Given the description of an element on the screen output the (x, y) to click on. 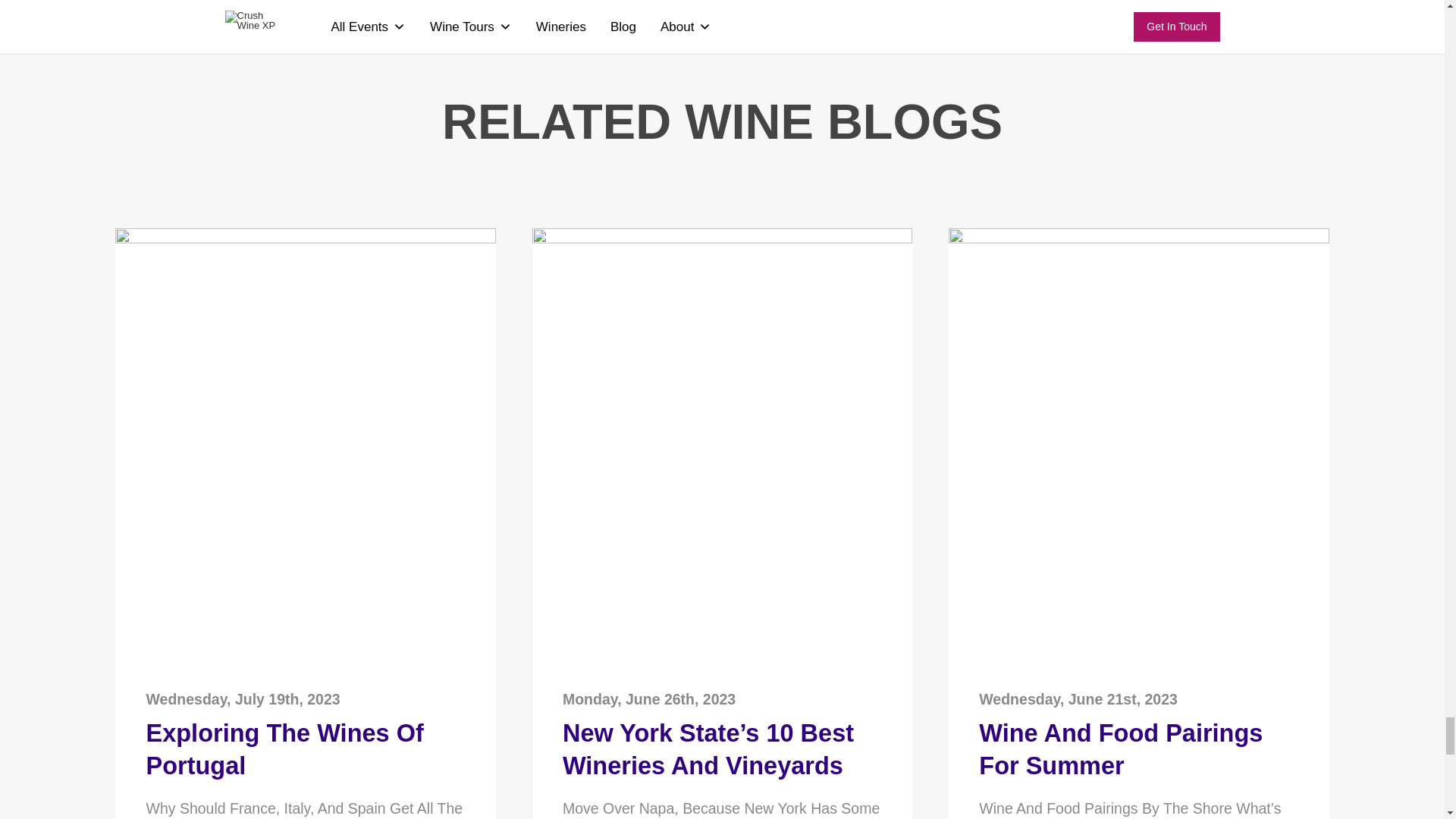
Read the full Article. (305, 239)
Read the full Article (722, 758)
Read the full Article (1138, 758)
Read the full Article. (722, 239)
Read the full Article. (1138, 239)
Read the full Article (305, 758)
